Given the description of an element on the screen output the (x, y) to click on. 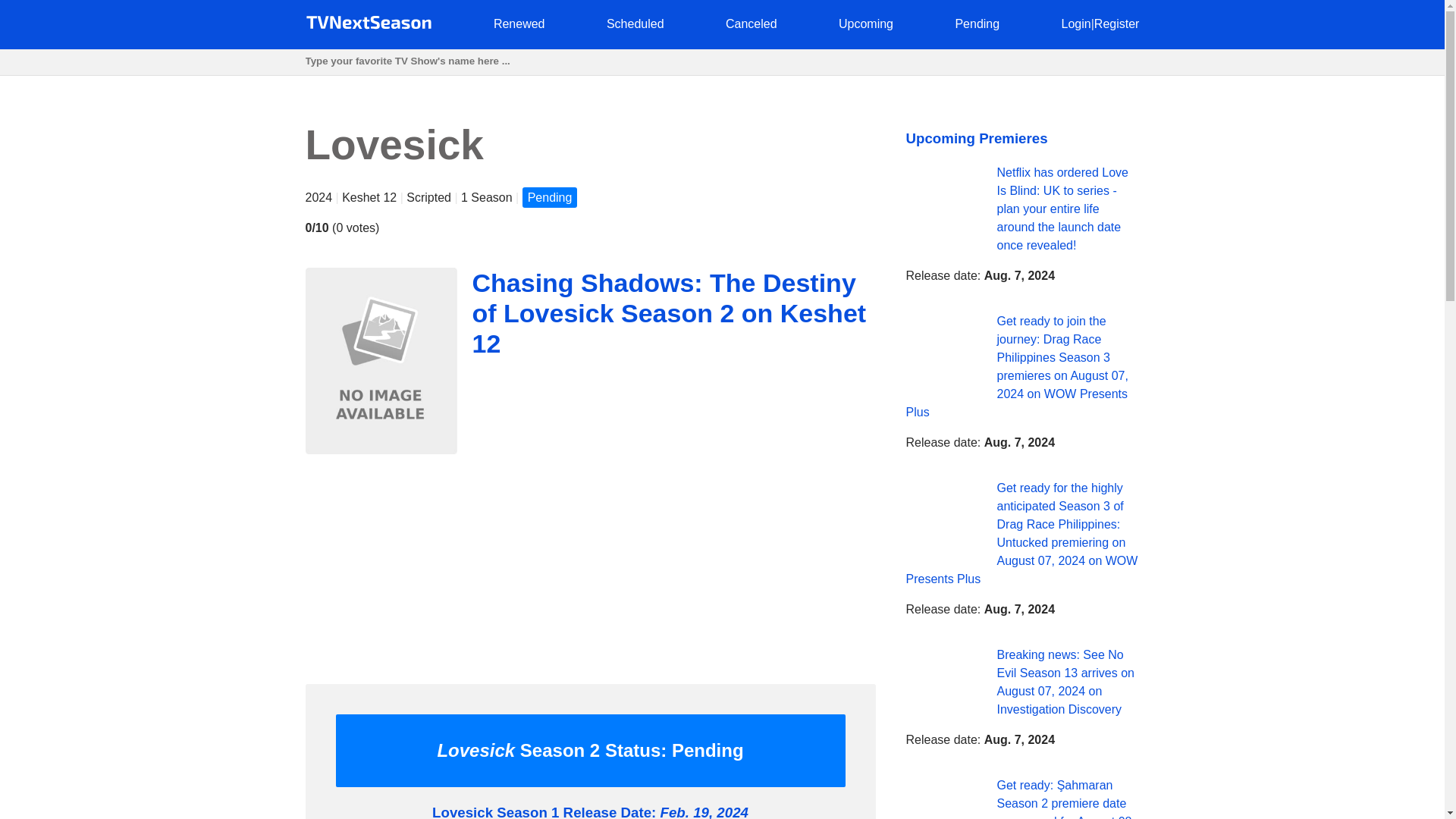
Login (1075, 23)
Advertisement (589, 565)
Register (1117, 23)
Pending (976, 23)
Scheduled (635, 23)
Canceled (751, 23)
Renewed (518, 23)
